Given the description of an element on the screen output the (x, y) to click on. 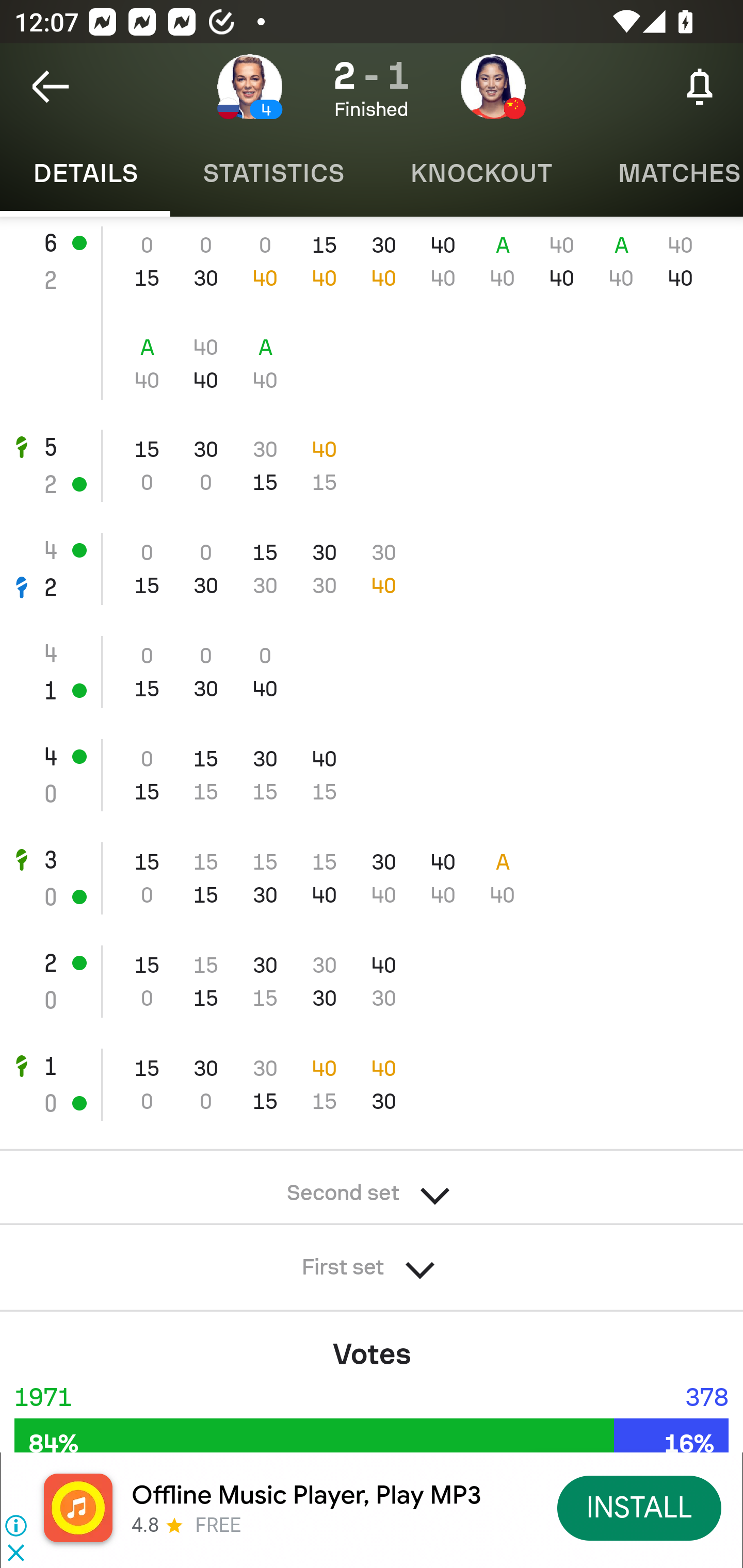
Navigate up (50, 86)
Statistics STATISTICS (273, 173)
Knockout KNOCKOUT (480, 173)
Matches MATCHES (663, 173)
A 40 A 40 40 40 (371, 363)
5 15 30 30 40 2 0 0 15 15 (371, 465)
4 0 0 15 30 30 2 15 30 30 30 40 (371, 568)
4 0 0 0 1 15 30 40 (371, 672)
4 0 15 30 40 0 15 15 15 15 (371, 775)
3 15 15 15 15 30 40 A 0 0 15 30 40 40 40 40 (371, 877)
2 15 15 30 30 40 0 0 15 15 30 30 (371, 981)
1 15 30 30 40 40 0 0 0 15 15 30 (371, 1084)
Second set (371, 1186)
First set (371, 1260)
INSTALL (639, 1507)
Offline Music Player, Play MP3 (306, 1494)
